Given the description of an element on the screen output the (x, y) to click on. 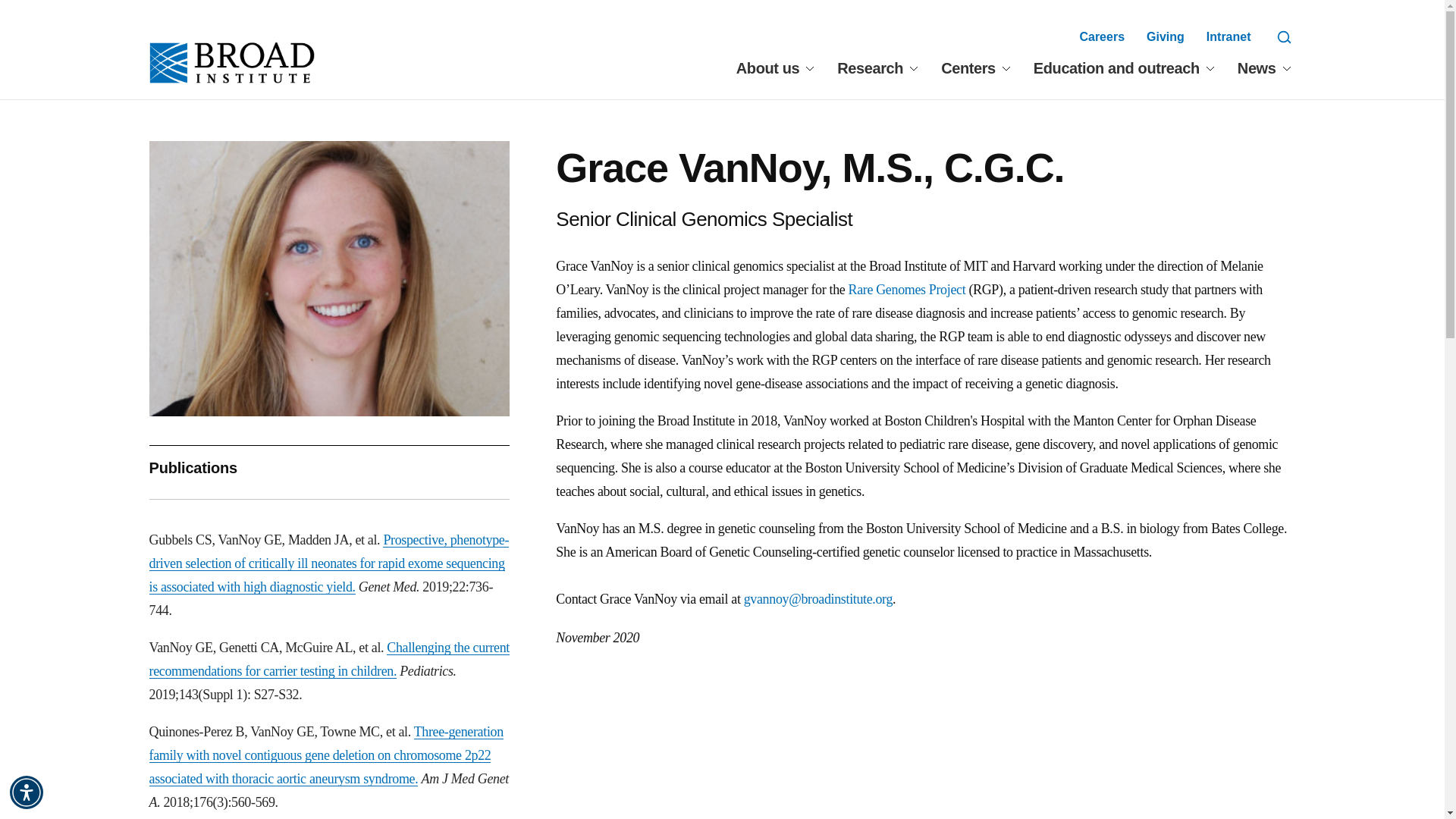
Giving (1166, 36)
Intranet (1228, 36)
Careers (1101, 36)
Accessibility Menu (26, 792)
Broad Institute Intranet (1228, 36)
